Given the description of an element on the screen output the (x, y) to click on. 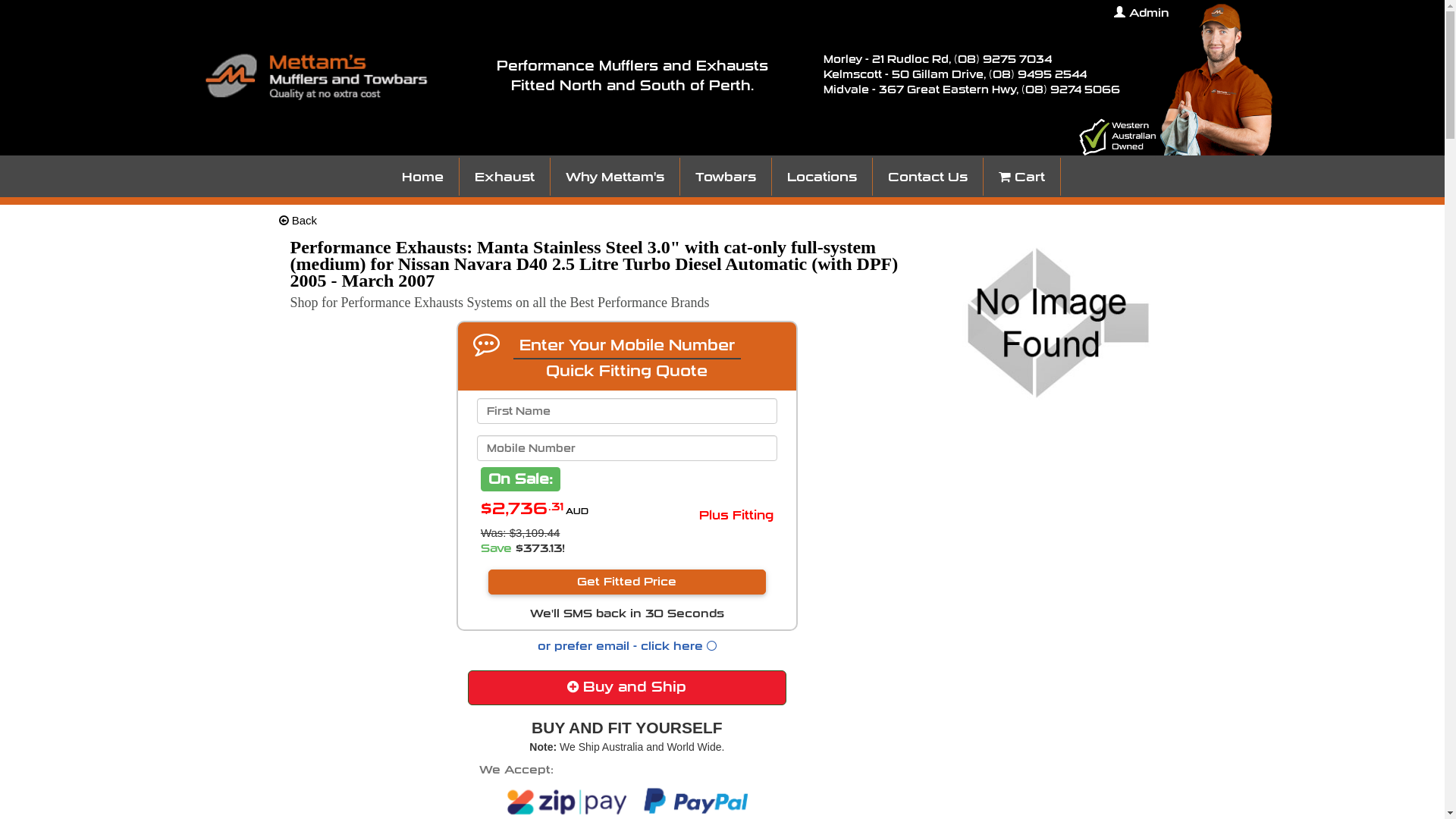
Exhaust Element type: text (504, 176)
Towbars Element type: text (725, 176)
 Back Element type: text (298, 220)
Home Element type: text (422, 176)
Locations Element type: text (821, 176)
Western Australian Owned Element type: hover (1117, 135)
Contact Us Element type: text (927, 176)
 Cart Element type: text (1021, 176)
Buy and Ship Element type: text (626, 687)
Mettams Mufflers Element type: hover (1216, 79)
Why Mettam's Element type: text (614, 176)
